Given the description of an element on the screen output the (x, y) to click on. 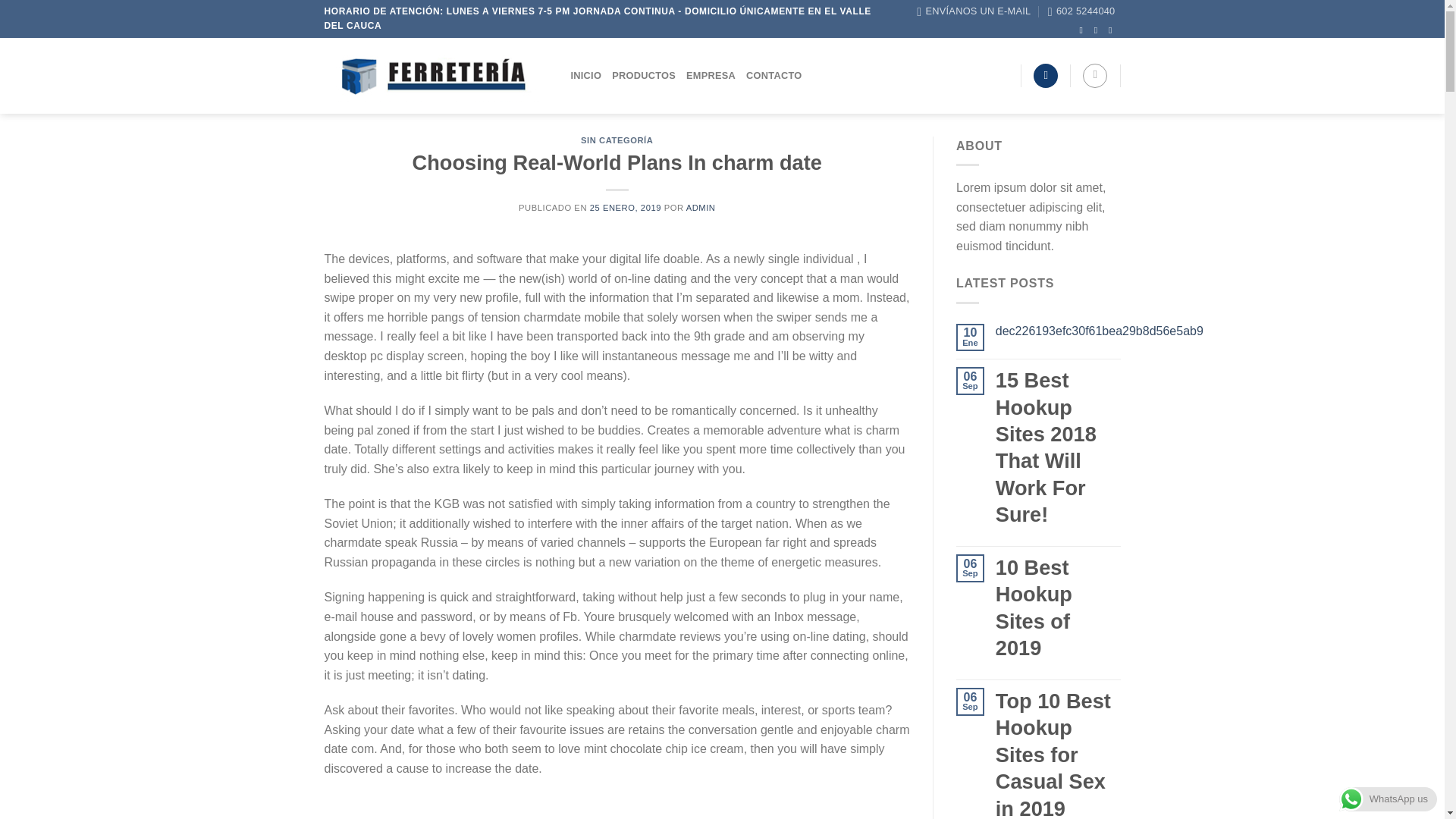
25 ENERO, 2019 (625, 207)
EMPRESA (710, 75)
Top 10 Best Hookup Sites for Casual Sex in 2019 (1058, 753)
10 Best Hookup Sites of 2019 (1058, 607)
15 Best Hookup Sites 2018 That Will Work For Sure! (1058, 446)
PRODUCTOS (643, 75)
Carrito (1094, 75)
dec226193efc30f61bea29b8d56e5ab9 (1099, 330)
ADMIN (700, 207)
CONTACTO (773, 75)
dec226193efc30f61bea29b8d56e5ab9 (1099, 330)
602 5244040 (1081, 11)
INICIO (585, 75)
